Given the description of an element on the screen output the (x, y) to click on. 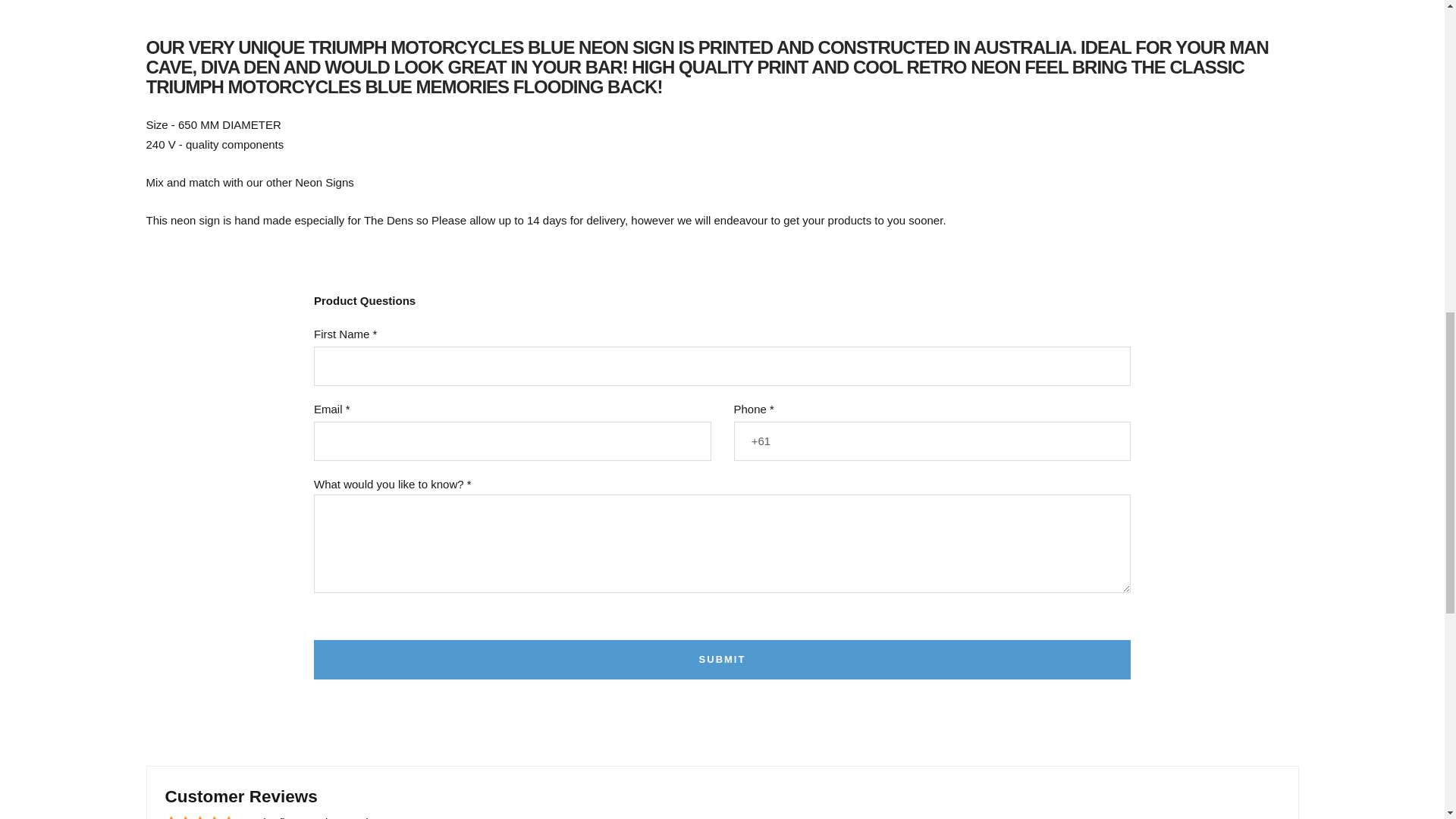
SUBMIT (722, 659)
